Given the description of an element on the screen output the (x, y) to click on. 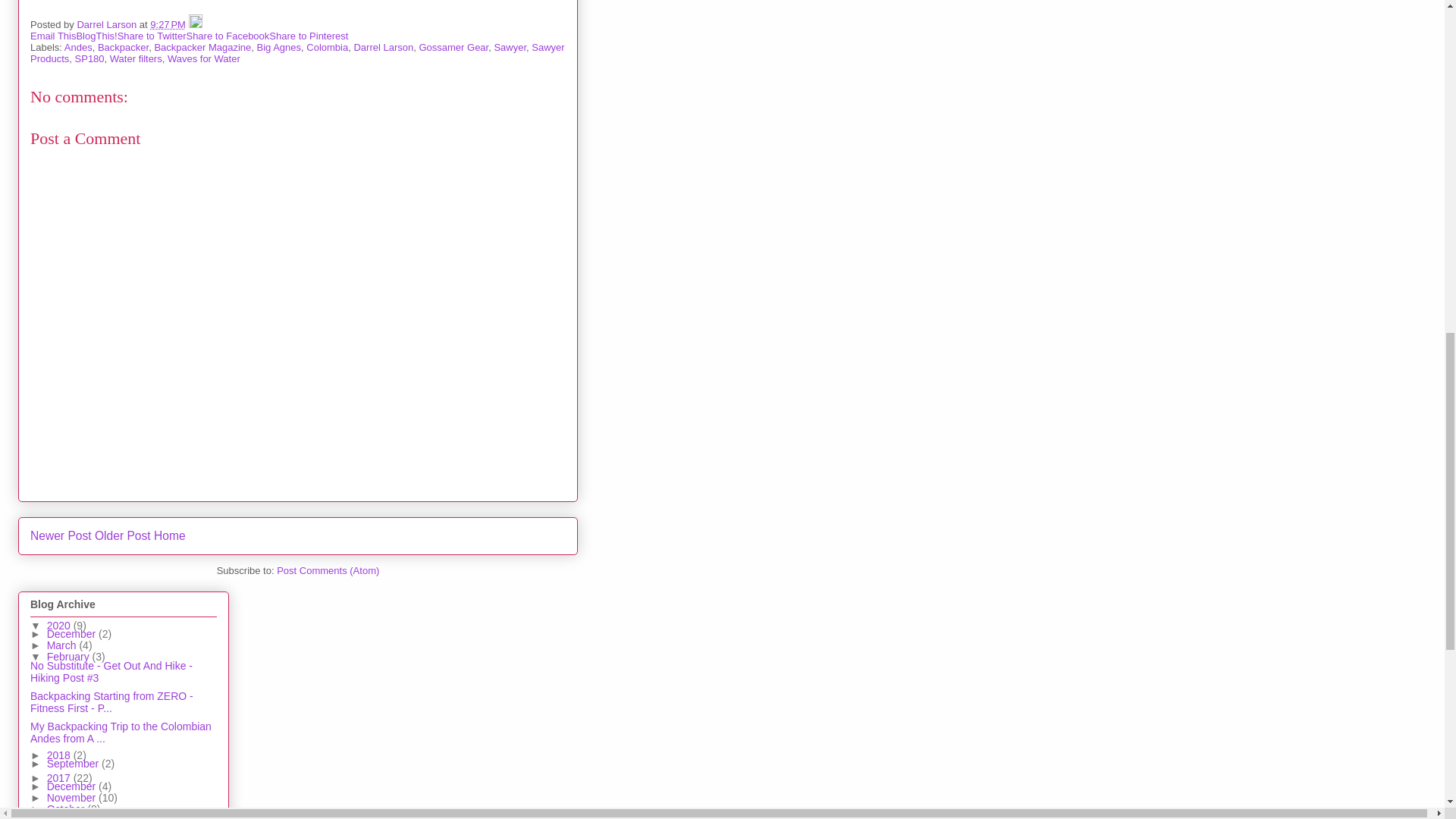
Gossamer Gear (453, 47)
Share to Facebook (227, 35)
Darrel Larson (383, 47)
author profile (107, 24)
permanent link (167, 24)
February (69, 656)
Sawyer Products (297, 52)
Share to Facebook (227, 35)
Newer Post (60, 535)
BlogThis! (95, 35)
BlogThis! (95, 35)
Sawyer (509, 47)
Share to Twitter (151, 35)
Older Post (122, 535)
Darrel Larson (107, 24)
